Given the description of an element on the screen output the (x, y) to click on. 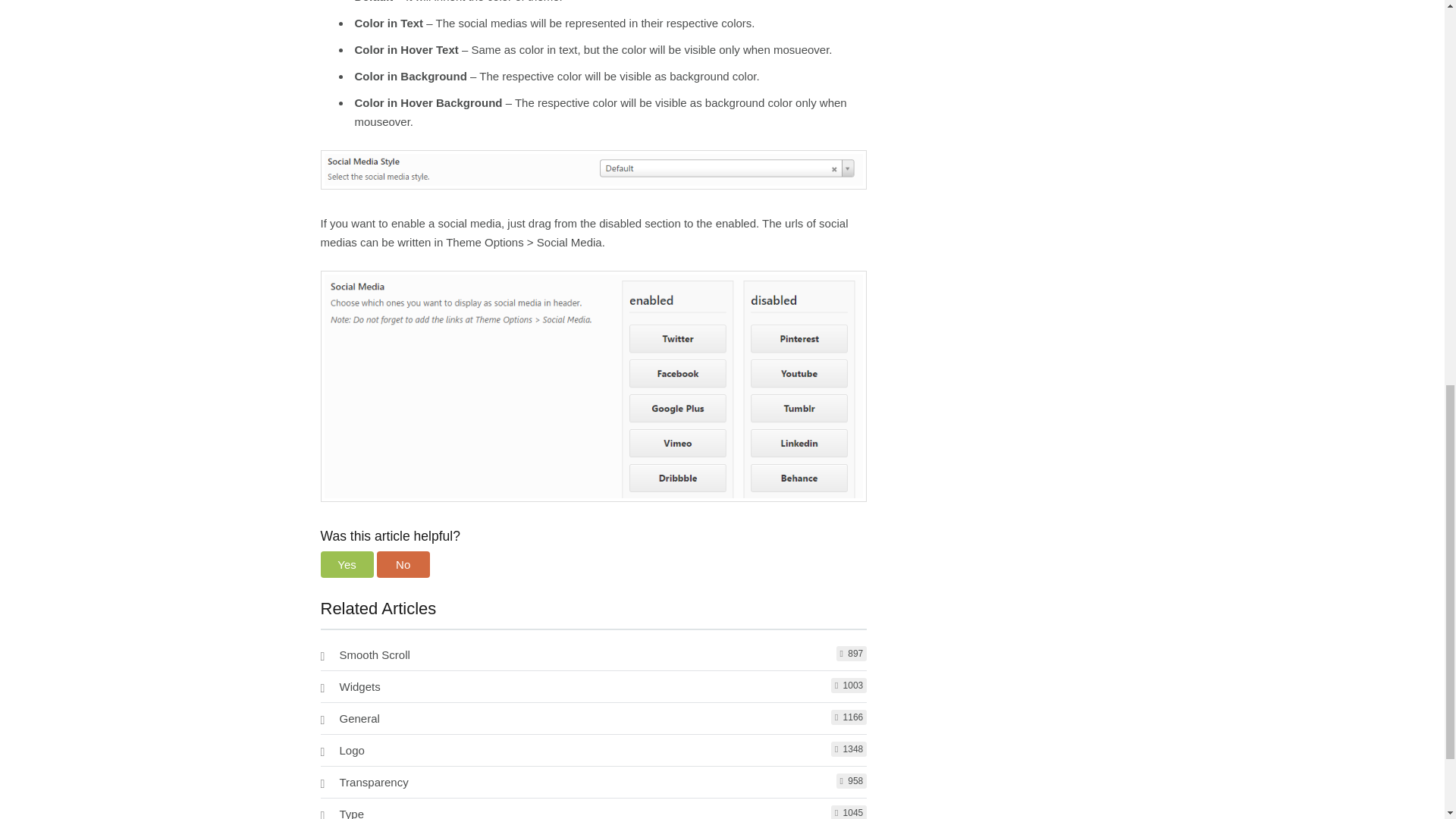
Smooth Scroll (374, 654)
Widgets (359, 686)
Yes (346, 564)
Smooth Scroll (374, 654)
Transparency (374, 781)
Type (352, 813)
Logo (352, 749)
General (359, 717)
Transparency (374, 781)
Widgets (359, 686)
Logo (352, 749)
No (403, 564)
General (359, 717)
Type (352, 813)
